Given the description of an element on the screen output the (x, y) to click on. 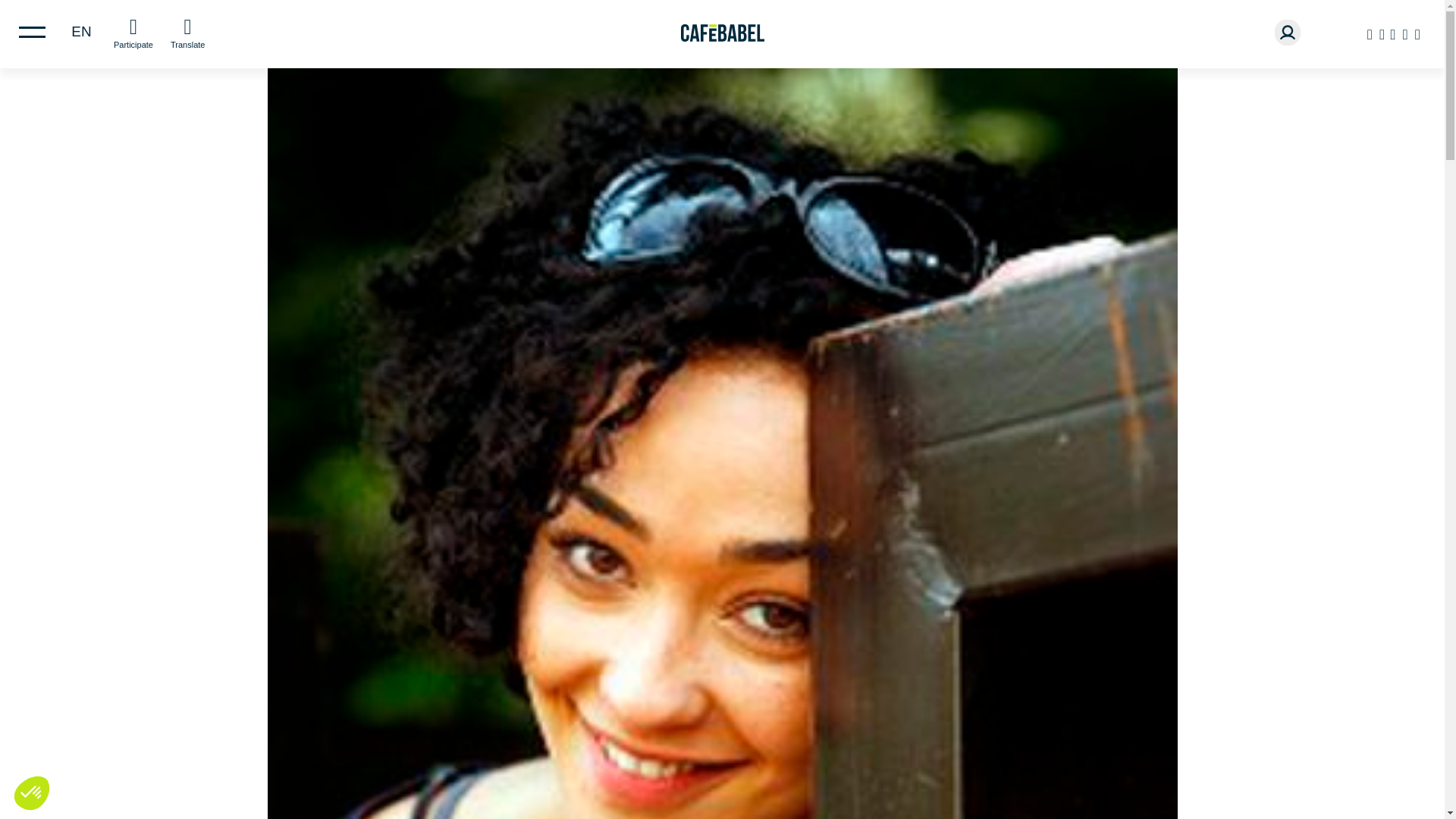
0 (28, 784)
Participate (132, 31)
Participate (132, 31)
